Given the description of an element on the screen output the (x, y) to click on. 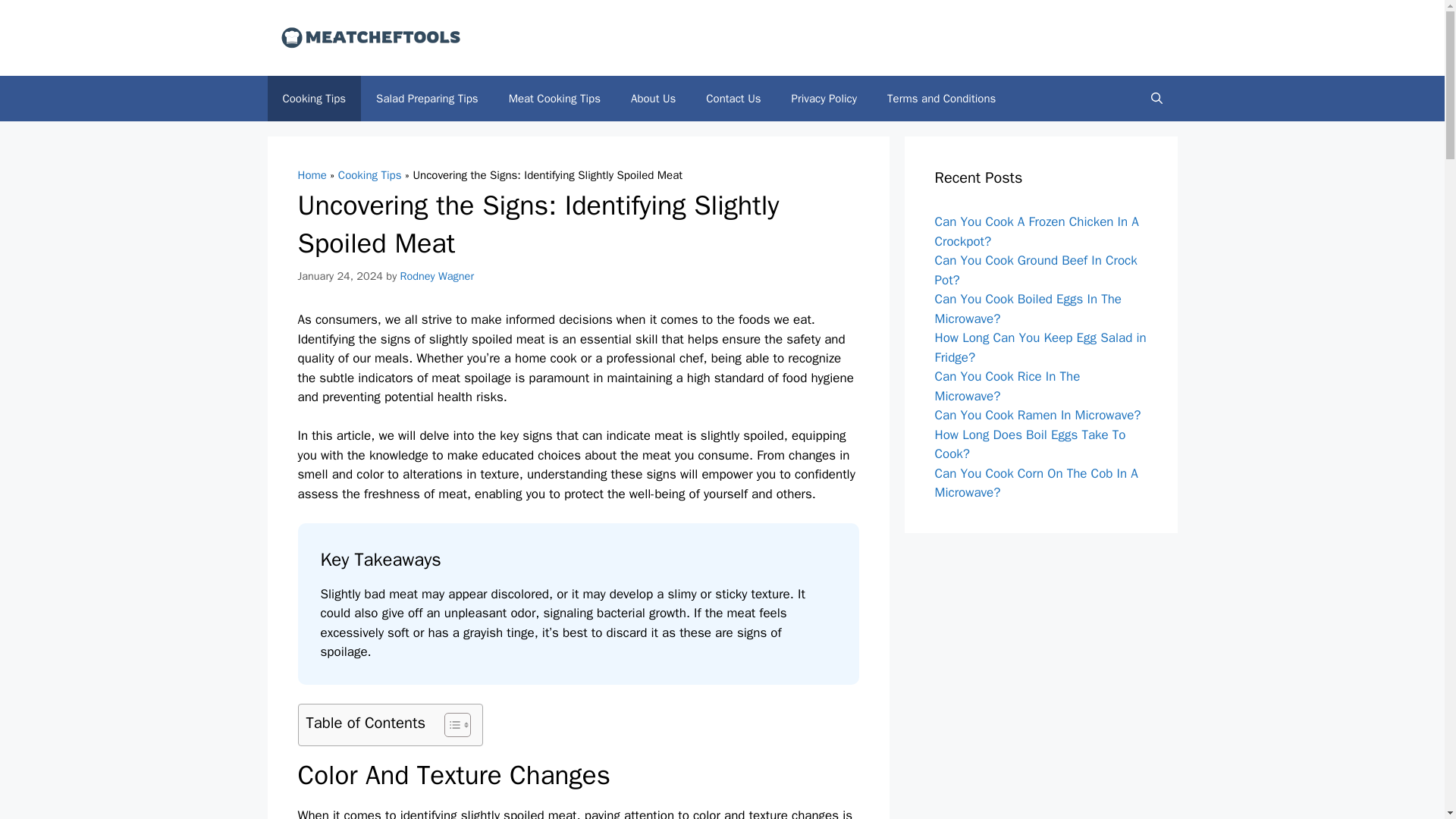
How Long Does Boil Eggs Take To Cook? (1029, 443)
How Long Can You Keep Egg Salad in Fridge? (1039, 347)
Can You Cook Boiled Eggs In The Microwave? (1027, 308)
Meat Cooking Tips (554, 98)
View all posts by Rodney Wagner (437, 274)
Salad Preparing Tips (427, 98)
Can You Cook Rice In The Microwave? (1007, 386)
Can You Cook A Frozen Chicken In A Crockpot? (1036, 231)
Privacy Policy (824, 98)
Terms and Conditions (941, 98)
